Given the description of an element on the screen output the (x, y) to click on. 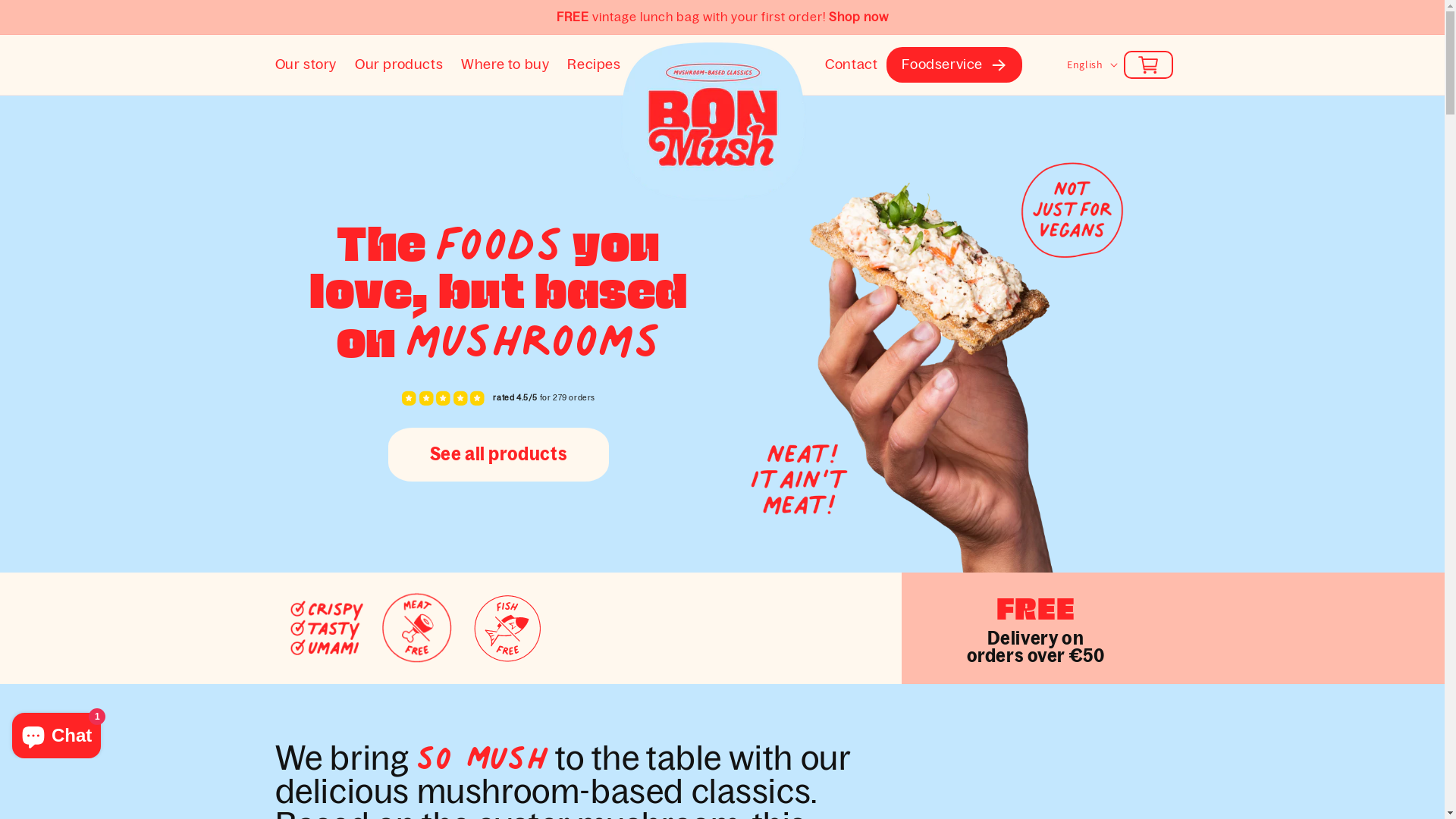
Where to buy Element type: text (504, 64)
See all products Element type: text (498, 454)
Shopify online store chat Element type: hover (56, 732)
Our story Element type: text (305, 64)
Foodservice Element type: text (941, 64)
Cart Element type: text (1148, 64)
Recipes Element type: text (593, 64)
Contact Element type: text (850, 64)
English Element type: text (1090, 64)
Our products Element type: text (398, 64)
